Given the description of an element on the screen output the (x, y) to click on. 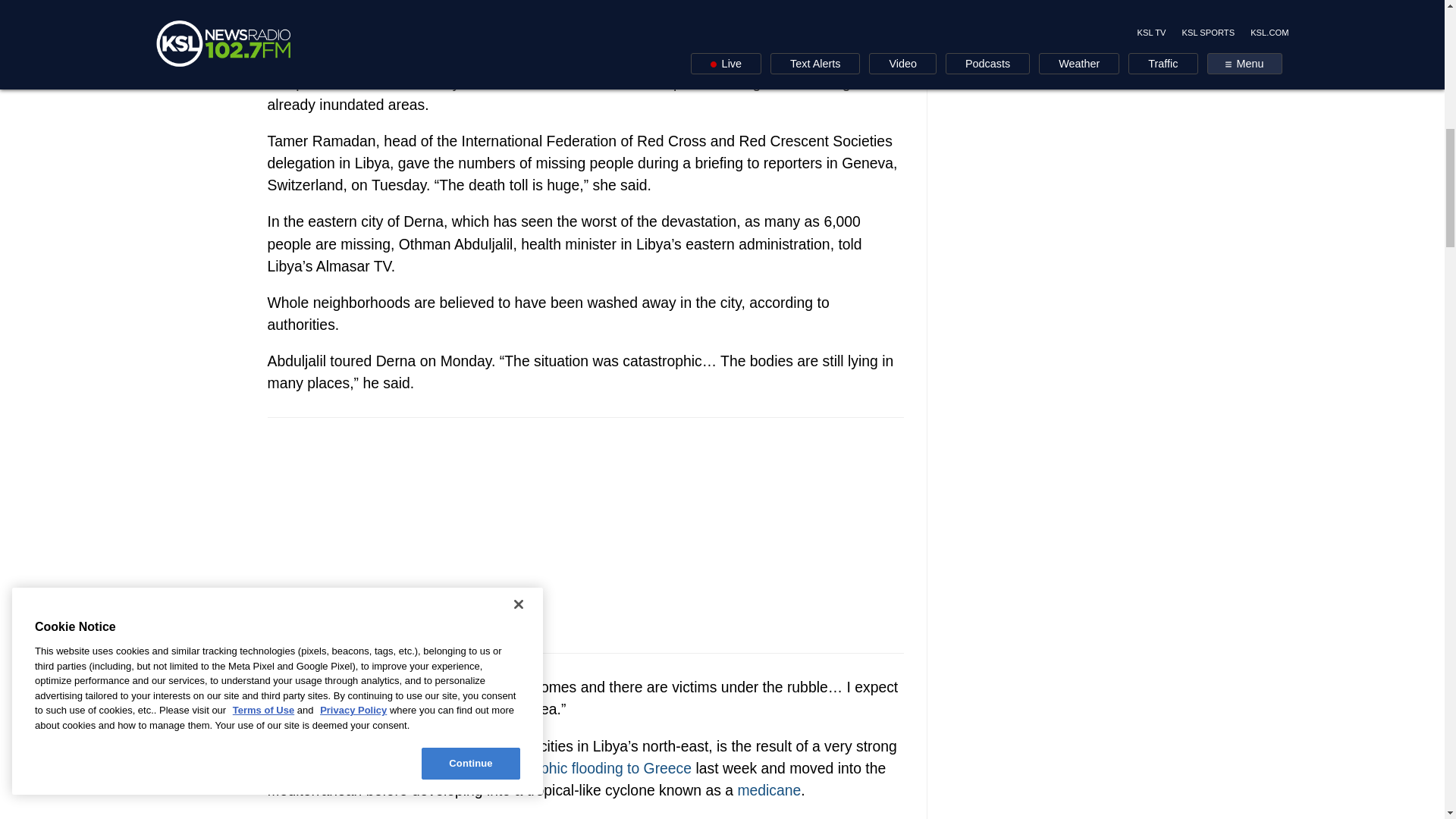
3rd party ad content (584, 534)
